Given the description of an element on the screen output the (x, y) to click on. 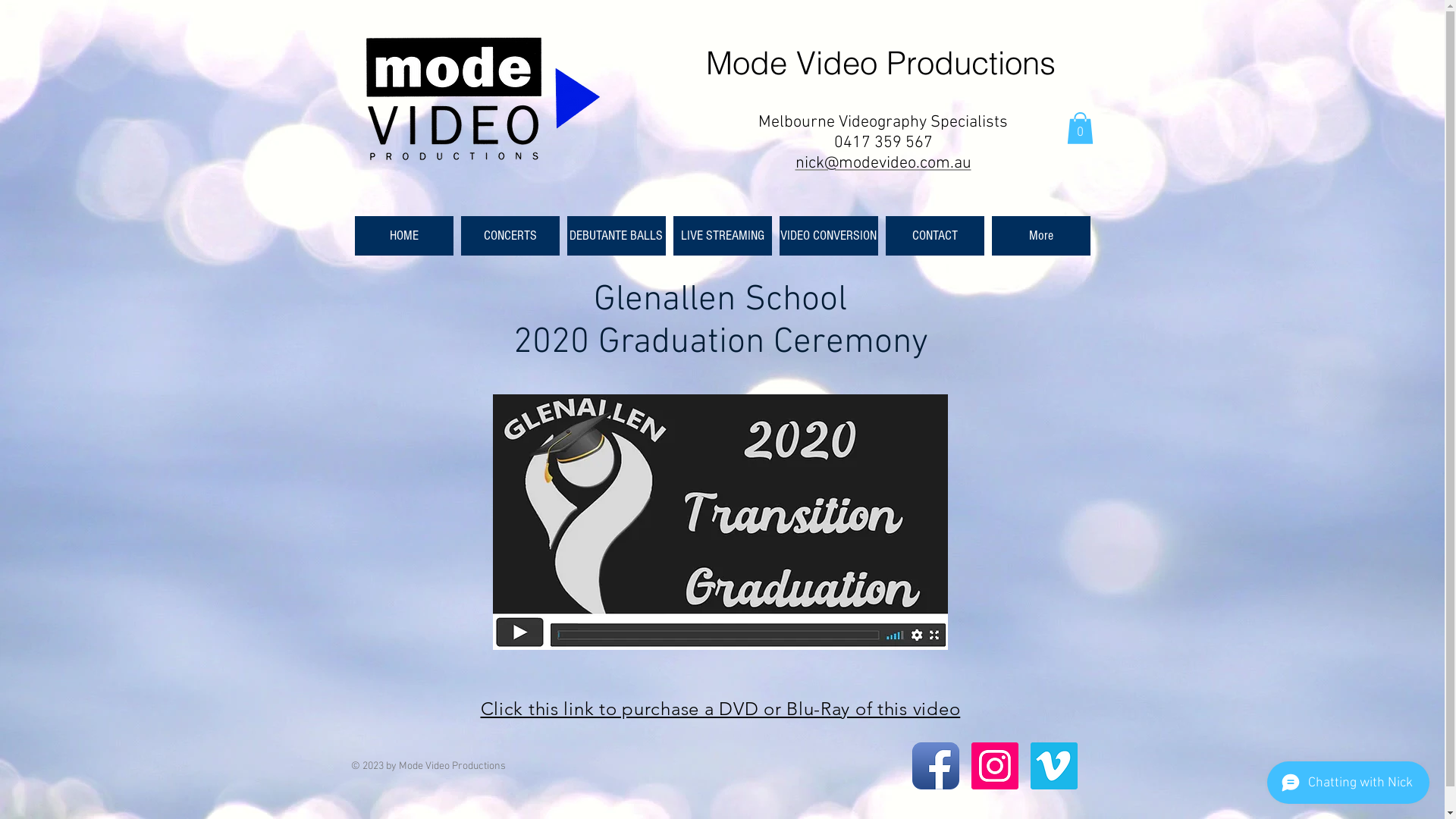
DEBUTANTE BALLS Element type: text (616, 235)
mode-video-logo-hi-res.png Element type: hover (481, 100)
CONCERTS Element type: text (510, 235)
HOME Element type: text (403, 235)
Facebook Like Element type: hover (775, 785)
VIDEO CONVERSION Element type: text (828, 235)
nick@modevideo.com.au Element type: text (882, 163)
Click this link to purchase a DVD or Blu-Ray of this video Element type: text (720, 710)
CONTACT Element type: text (934, 235)
0 Element type: text (1079, 128)
LIVE STREAMING Element type: text (722, 235)
